Given the description of an element on the screen output the (x, y) to click on. 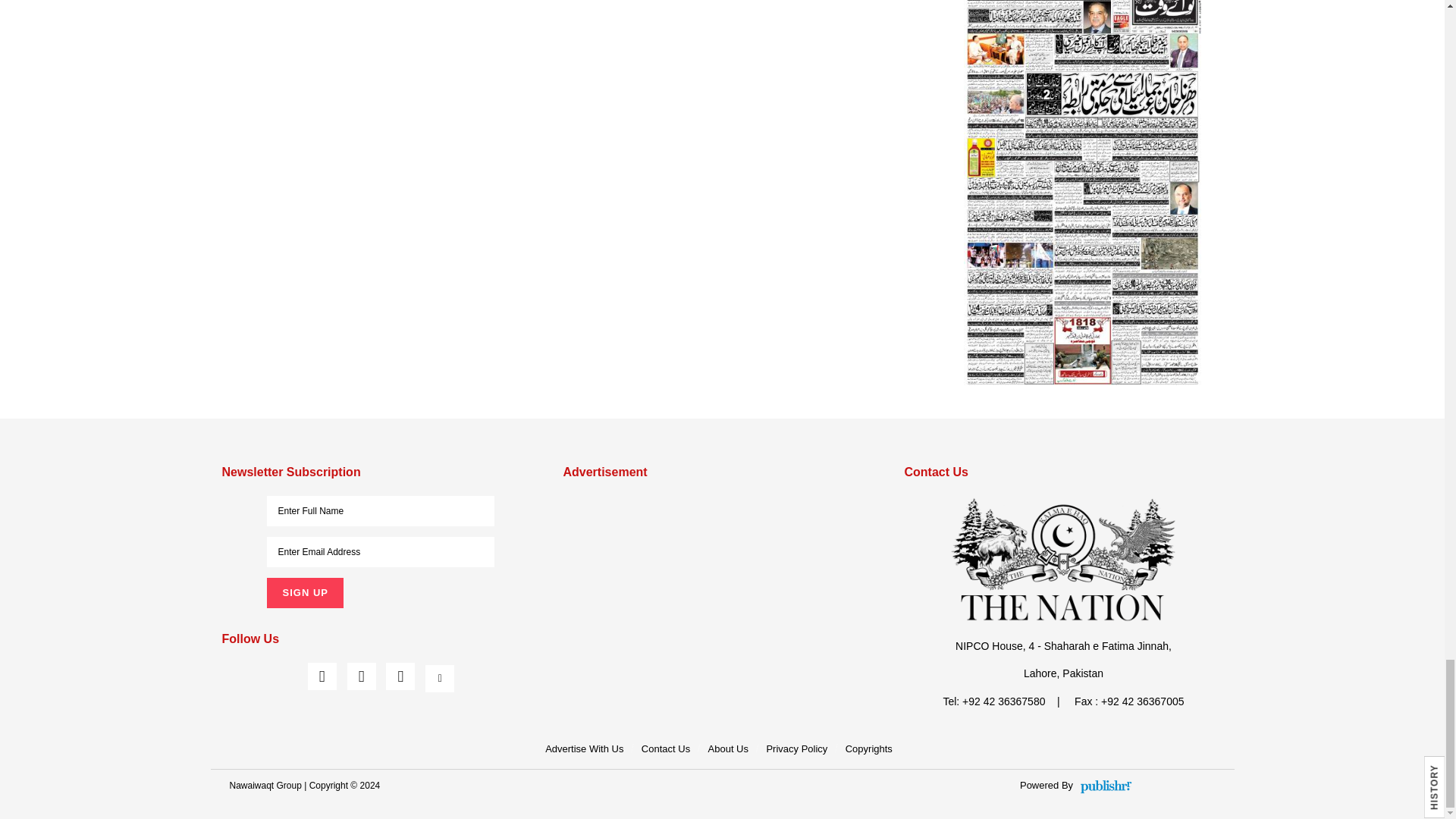
Sign up (304, 593)
